Given the description of an element on the screen output the (x, y) to click on. 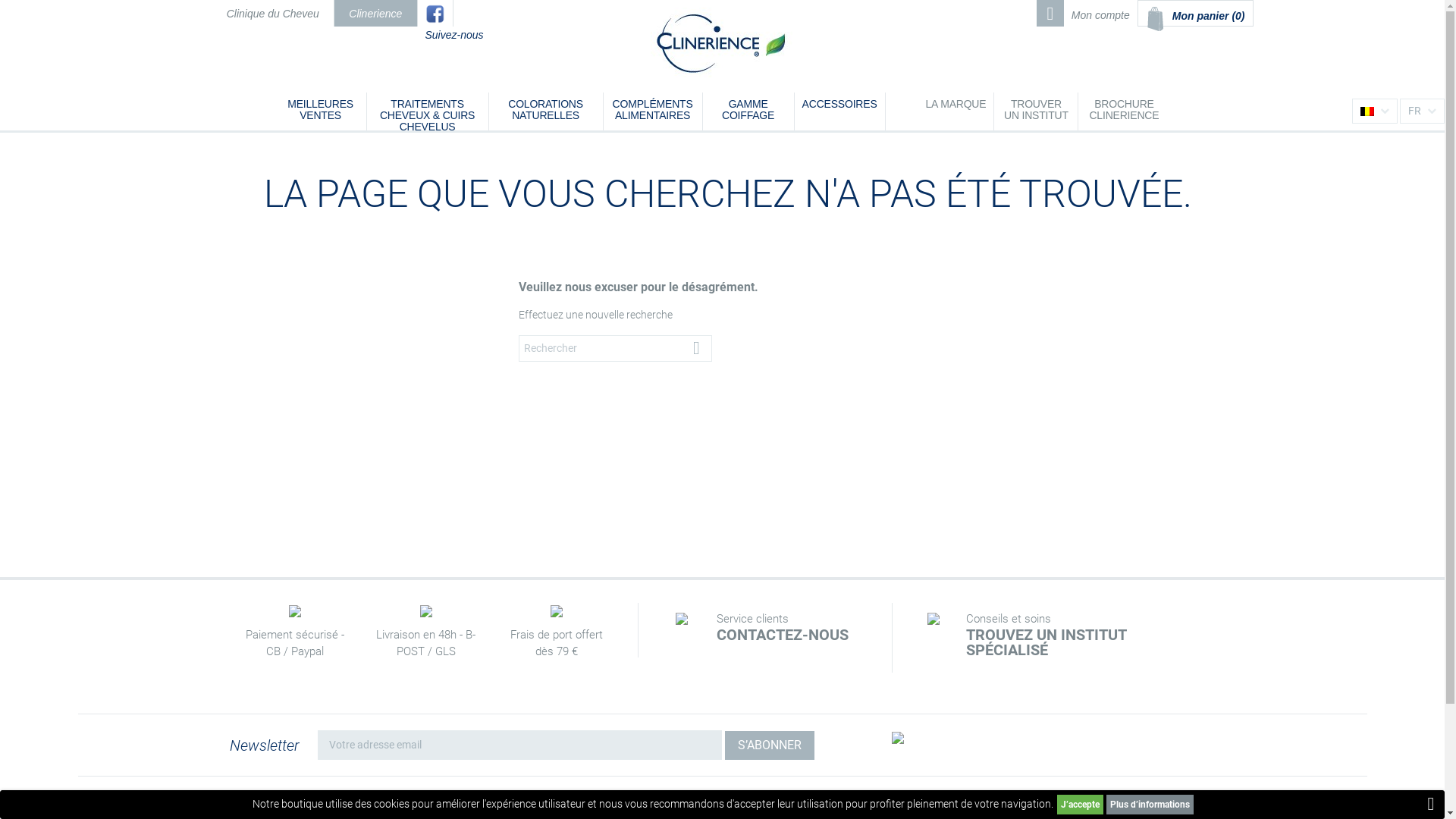
TROUVER UN INSTITUT Element type: text (1035, 111)
MEILLEURES VENTES Element type: text (320, 111)
be Element type: hover (1367, 111)
BROCHURE CLINERIENCE Element type: text (1123, 111)
Clinique du Cheveu Element type: text (273, 13)
COLORATIONS NATURELLES Element type: text (545, 111)
LA MARQUE Element type: text (956, 111)
FR Element type: text (1422, 110)
GAMME COIFFAGE Element type: text (747, 111)
CONTACTEZ-NOUS Element type: text (792, 634)
Clinerience Element type: text (375, 13)
ACCESSOIRES Element type: text (839, 111)
TRAITEMENTS CHEVEUX & CUIRS CHEVELUS Element type: text (427, 111)
Mon compte Element type: text (1100, 13)
